Given the description of an element on the screen output the (x, y) to click on. 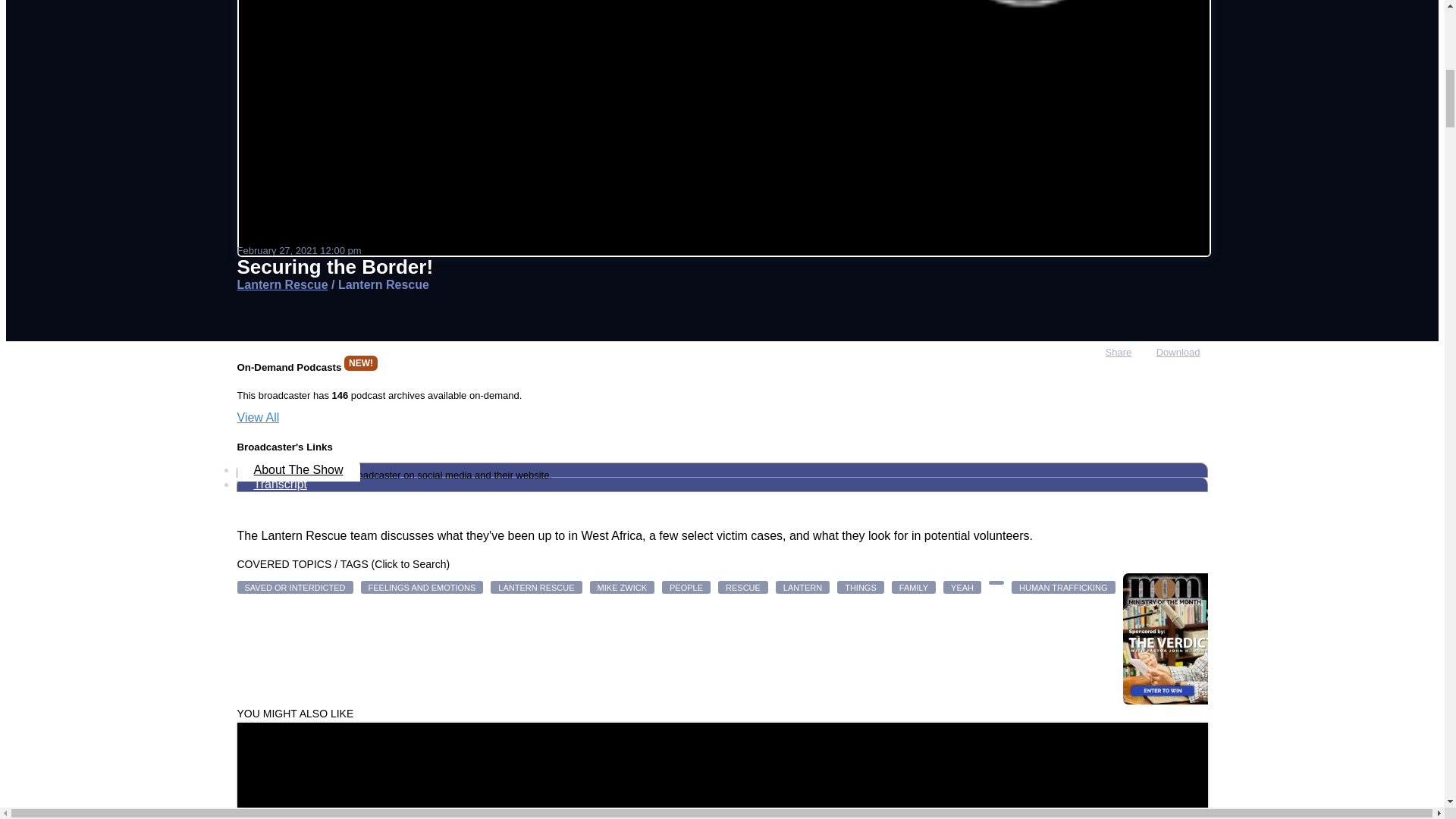
Go to Show Details (281, 284)
